Given the description of an element on the screen output the (x, y) to click on. 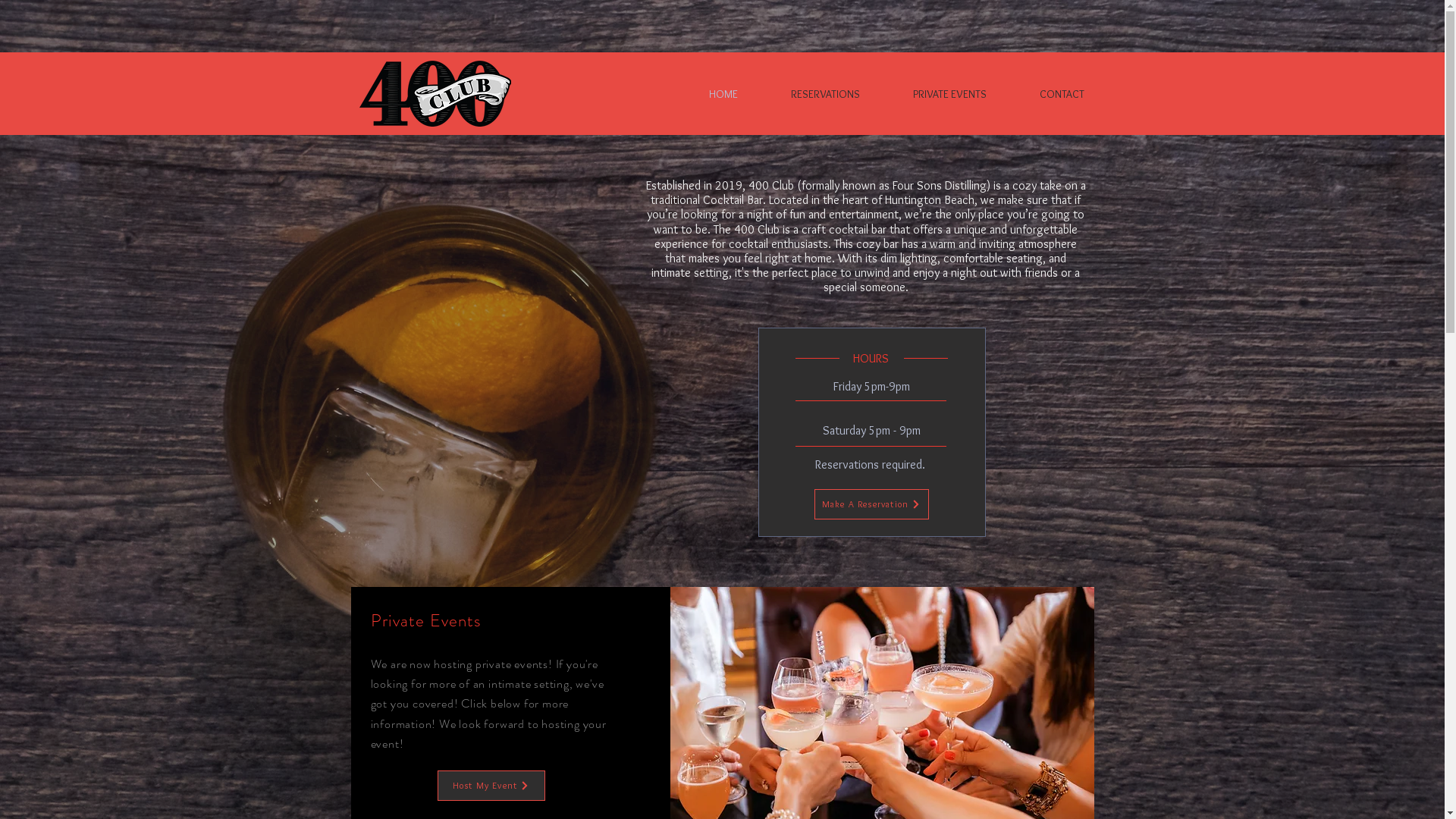
Make A Reservation Element type: text (871, 503)
CONTACT Element type: text (1043, 93)
RESERVATIONS Element type: text (807, 93)
PRIVATE EVENTS Element type: text (930, 93)
Host My Event Element type: text (490, 785)
HOME Element type: text (703, 93)
